Given the description of an element on the screen output the (x, y) to click on. 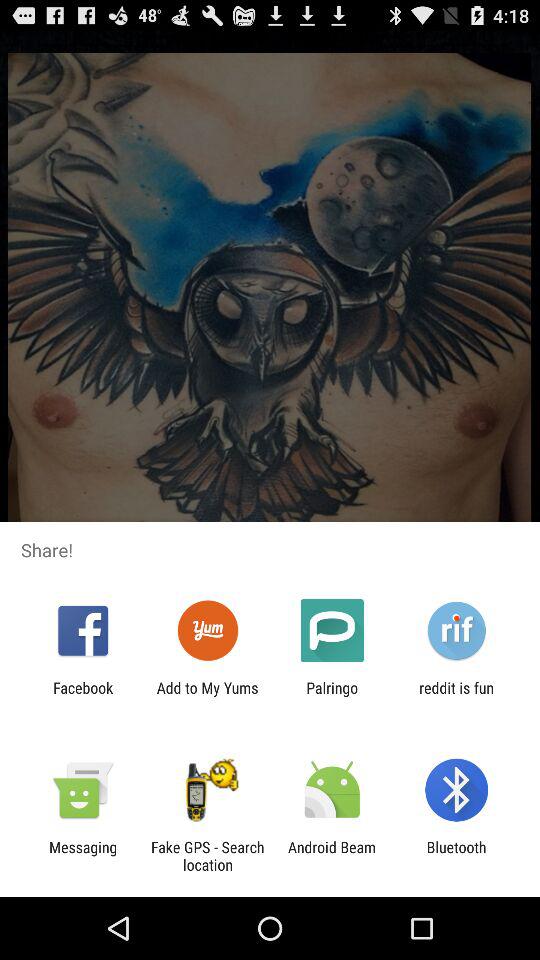
choose app to the right of android beam (456, 856)
